Given the description of an element on the screen output the (x, y) to click on. 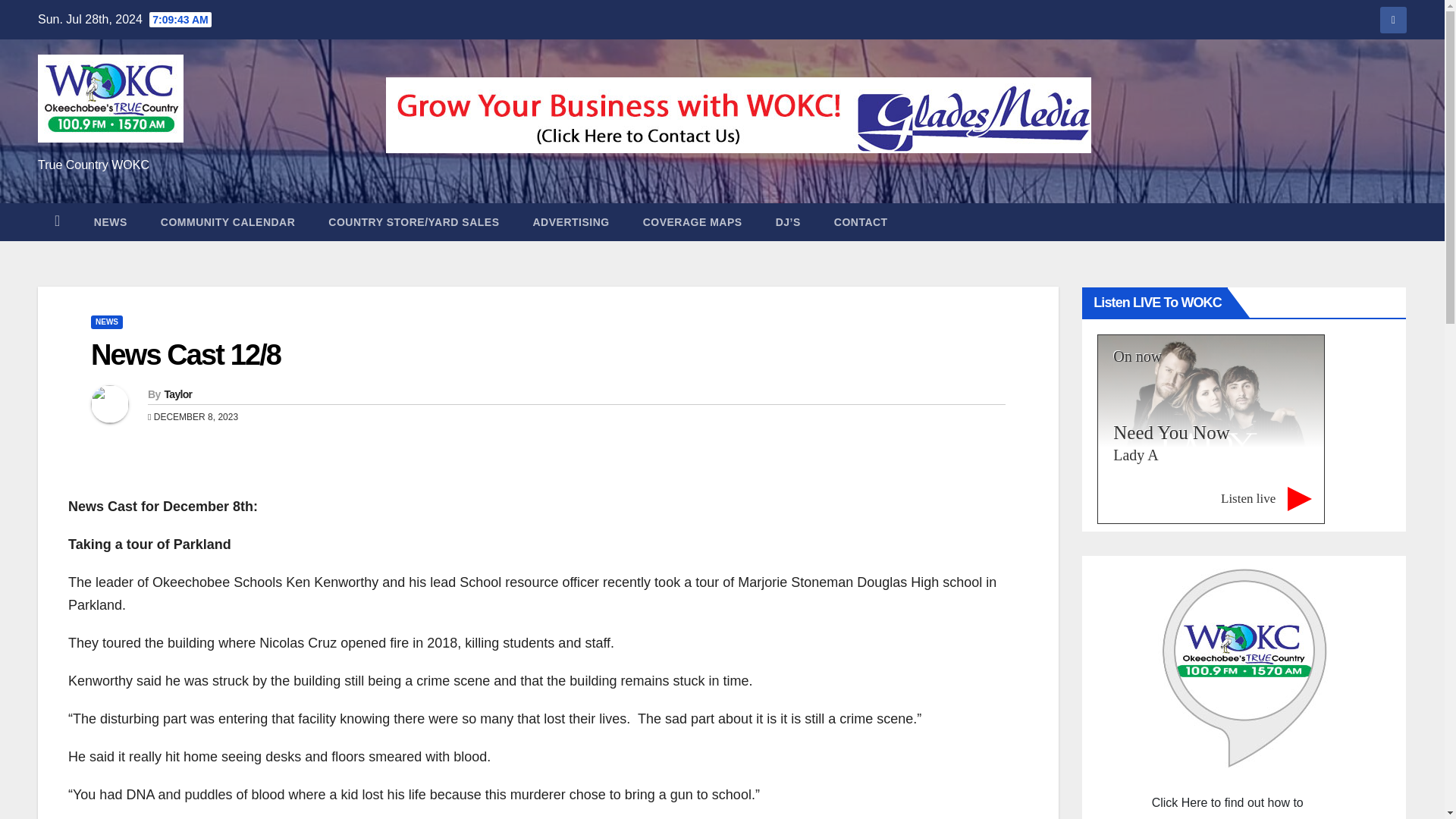
Home (57, 221)
Contact (860, 221)
Taylor (177, 394)
NEWS (106, 322)
Coverage Maps (692, 221)
Community Calendar (228, 221)
NEWS (110, 221)
CONTACT (860, 221)
COVERAGE MAPS (692, 221)
NEWS (110, 221)
ADVERTISING (570, 221)
Advertising (570, 221)
COMMUNITY CALENDAR (228, 221)
